Given the description of an element on the screen output the (x, y) to click on. 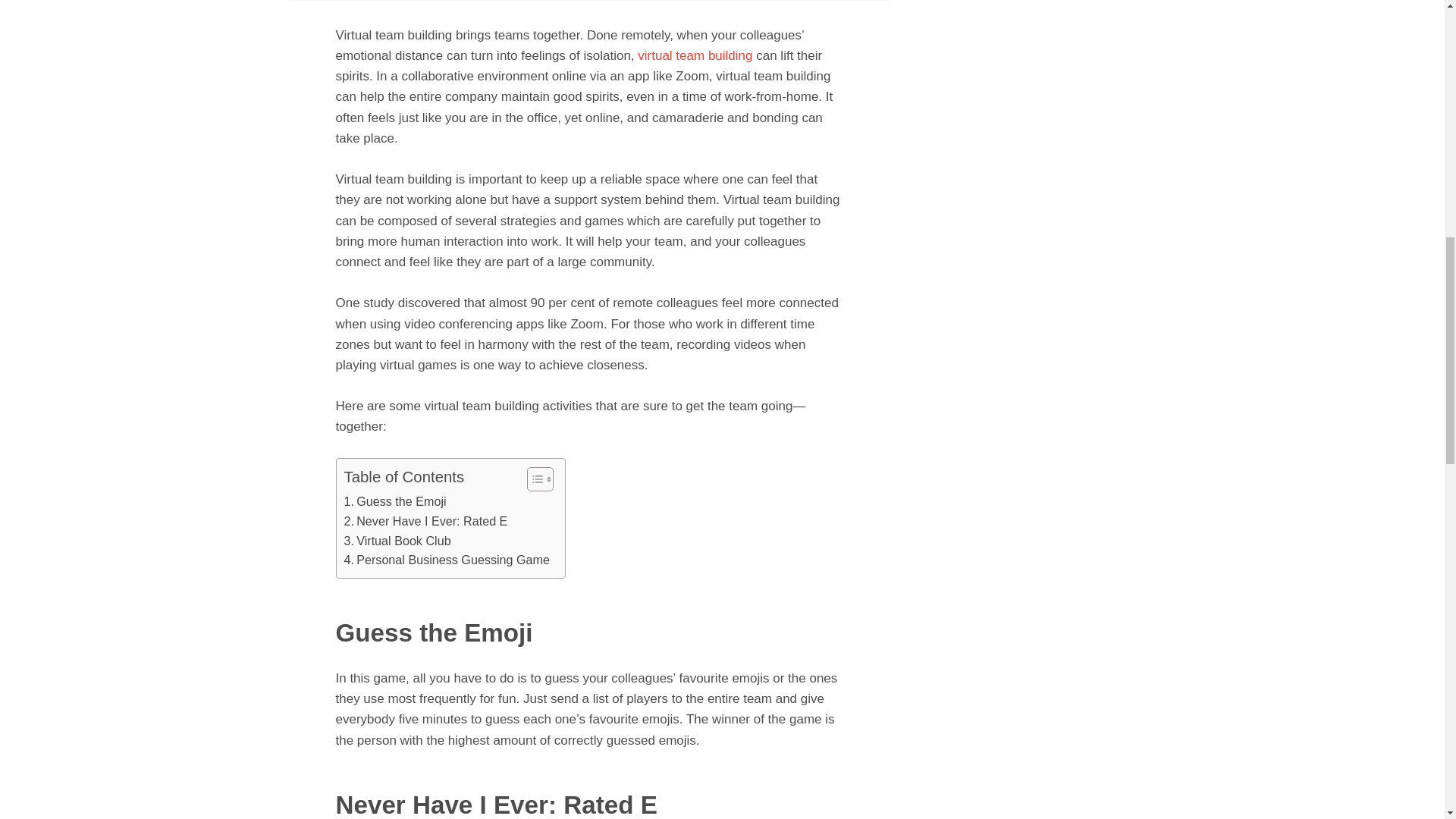
Personal Business Guessing Game (446, 560)
virtual team building (694, 55)
Guess the Emoji  (396, 501)
Never Have I Ever: Rated E (425, 521)
Personal Business Guessing Game (446, 560)
Never Have I Ever: Rated E (425, 521)
Virtual Book Club (397, 540)
Virtual Book Club (397, 540)
